Given the description of an element on the screen output the (x, y) to click on. 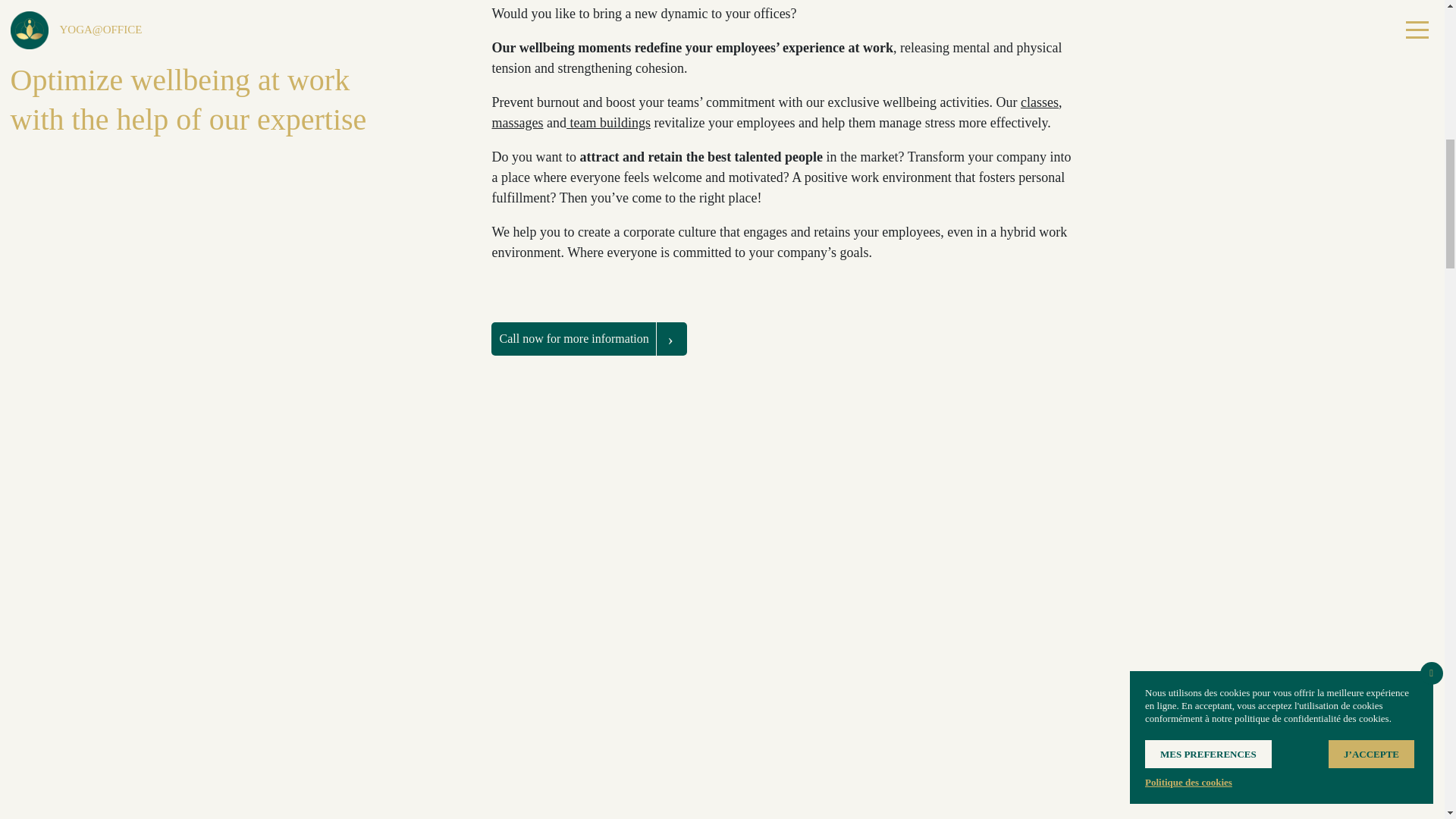
team buildings (608, 122)
Call now for more information (588, 338)
massages (517, 122)
classes (1039, 102)
